Given the description of an element on the screen output the (x, y) to click on. 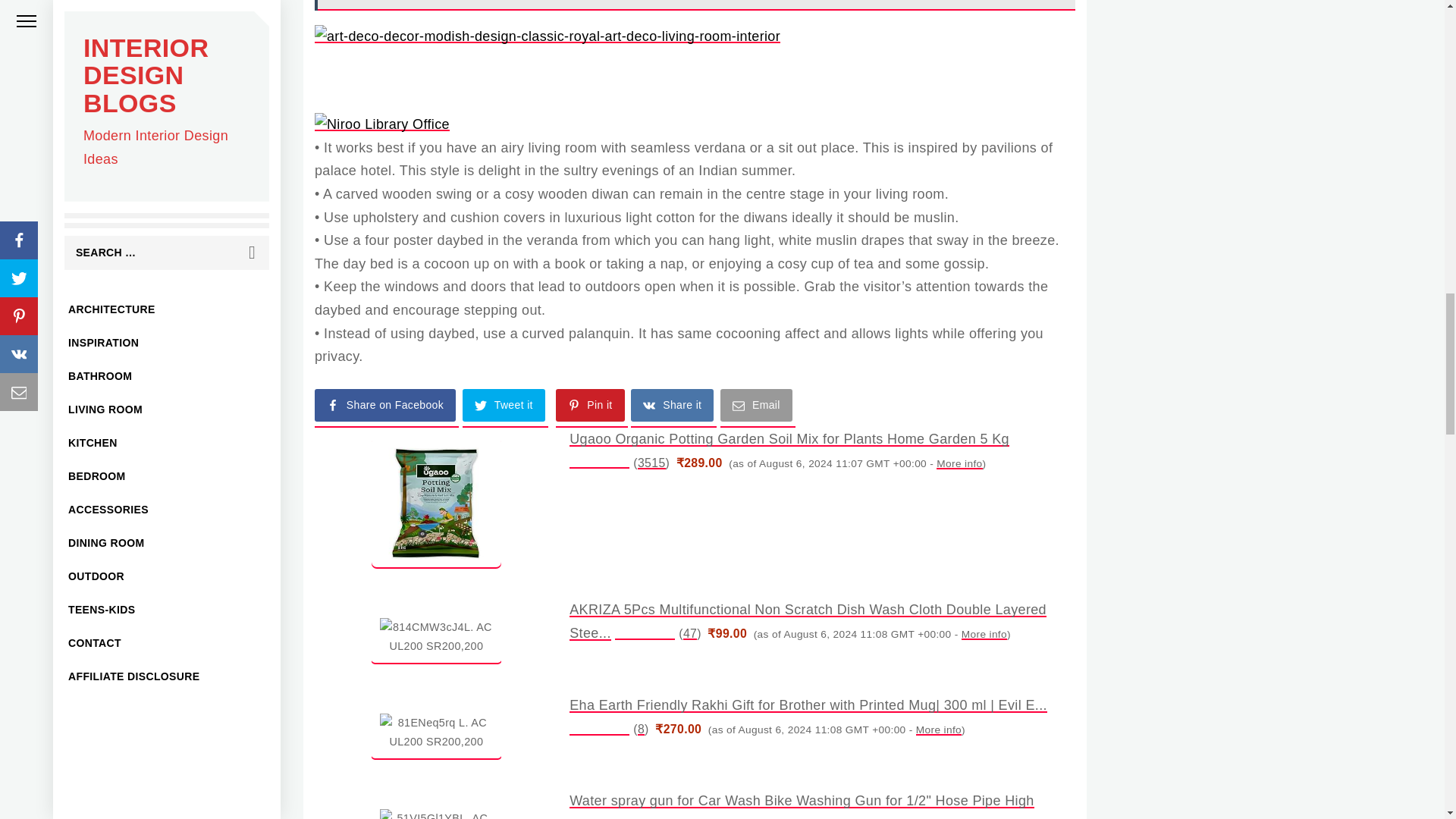
How to add royalty to your space? (547, 36)
Tweet it (505, 408)
Email (757, 408)
Share it (673, 408)
Share on Facebook (386, 408)
Pin it (590, 408)
How to add royalty to your space? (381, 124)
Tweet (505, 408)
Share on Facebook (386, 408)
